Given the description of an element on the screen output the (x, y) to click on. 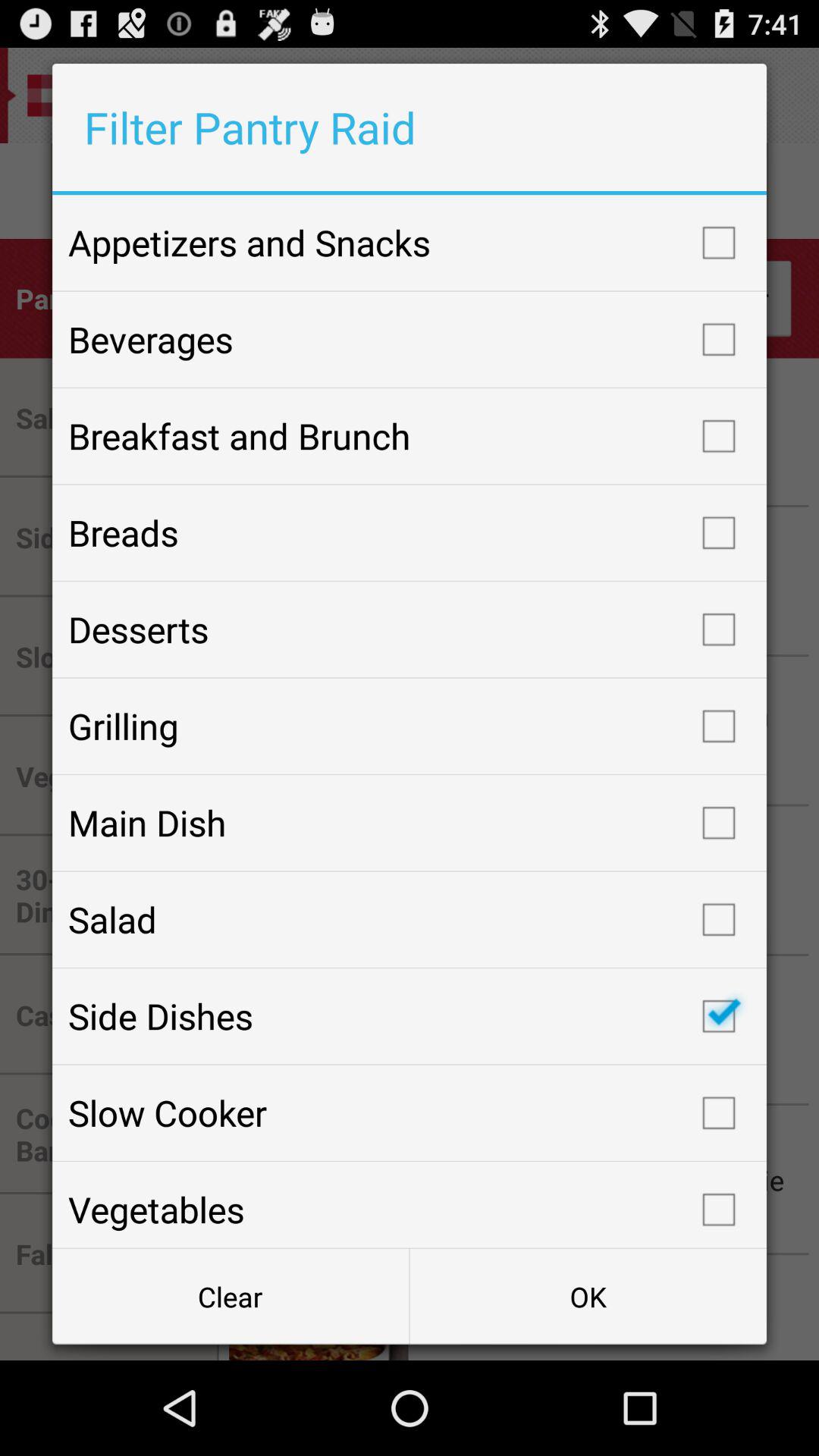
flip until the slow cooker item (409, 1112)
